Given the description of an element on the screen output the (x, y) to click on. 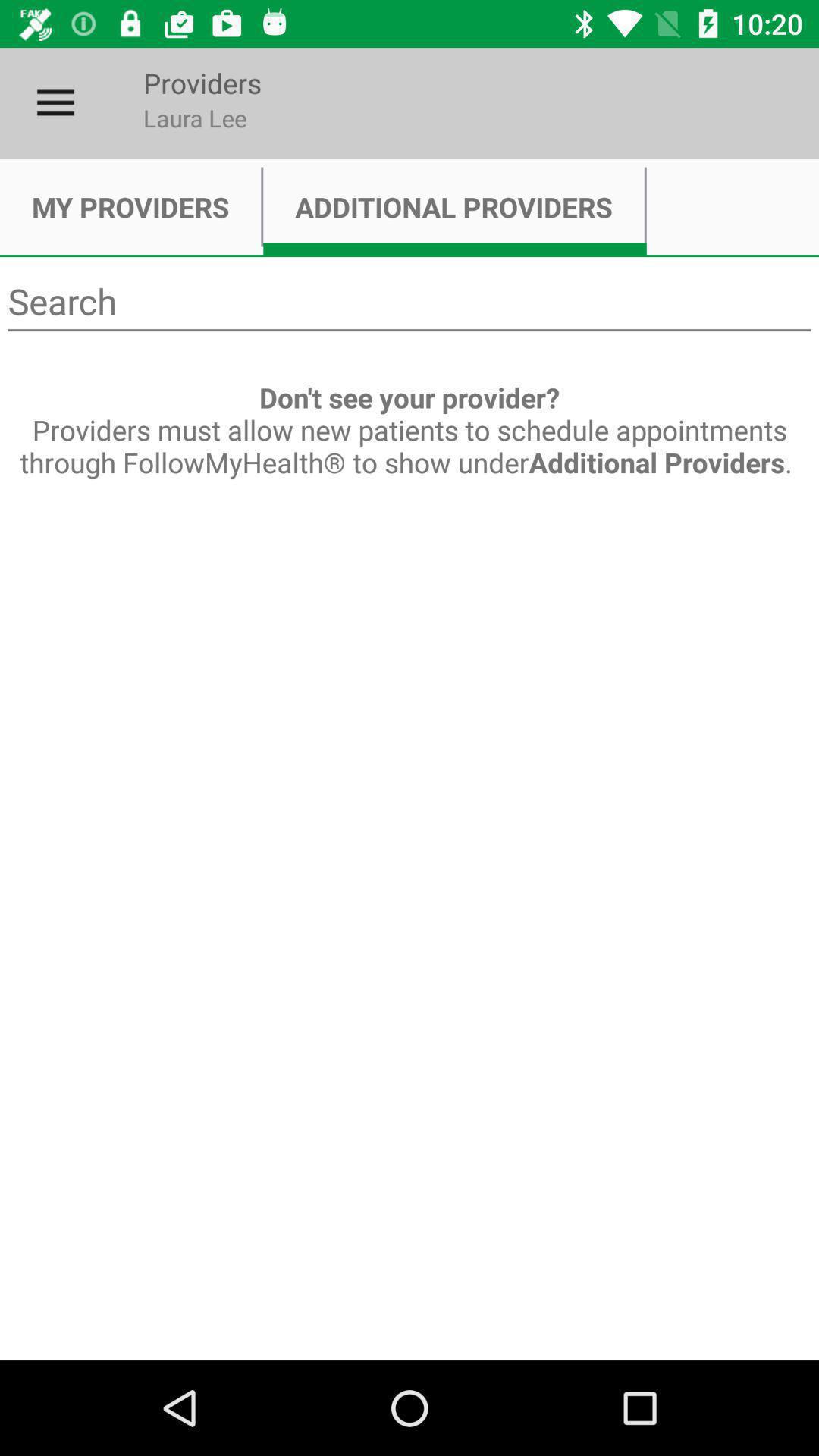
search providers (409, 301)
